Given the description of an element on the screen output the (x, y) to click on. 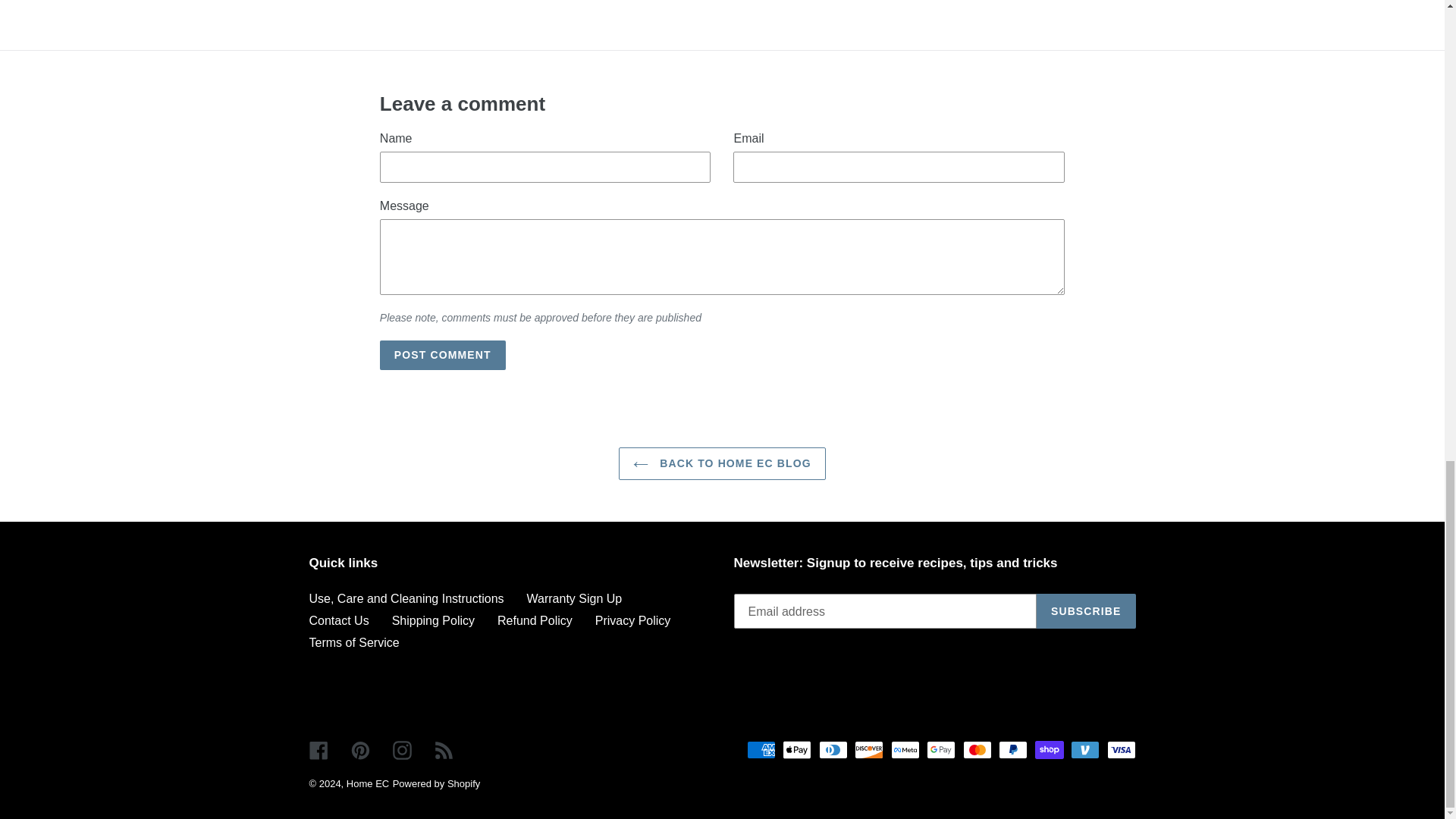
Post comment (442, 355)
Post comment (442, 355)
